Given the description of an element on the screen output the (x, y) to click on. 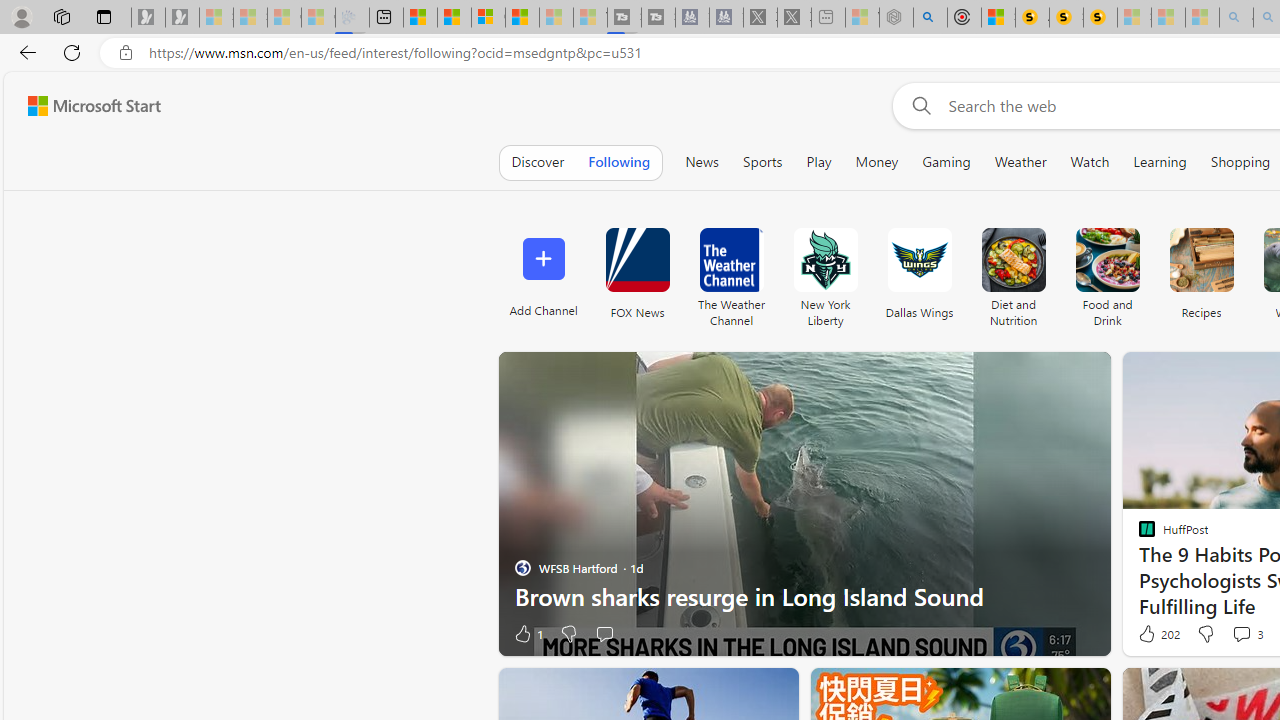
Food and Drink (1107, 272)
FOX News (637, 260)
The Weather Channel (731, 272)
Recipes (1200, 272)
